Given the description of an element on the screen output the (x, y) to click on. 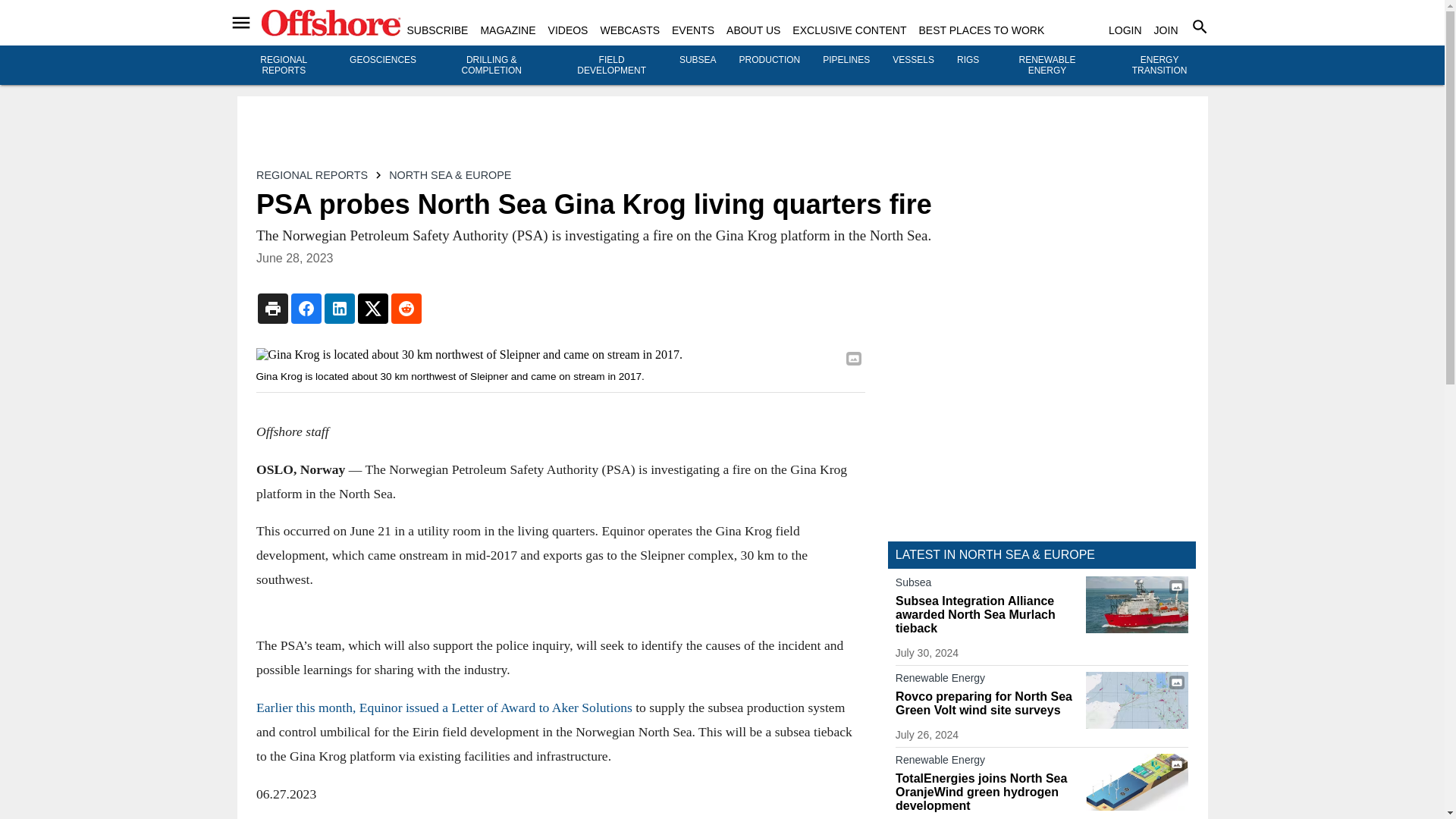
subsea7 (1137, 604)
PRODUCTION (769, 59)
RENEWABLE ENERGY (1047, 65)
Green Volt Floating Offshore Windfarm (1137, 699)
LOGIN (1124, 30)
BEST PLACES TO WORK (981, 30)
OranjeWind  (1137, 781)
GEOSCIENCES (382, 59)
VIDEOS (568, 30)
SUBSCRIBE (436, 30)
